Given the description of an element on the screen output the (x, y) to click on. 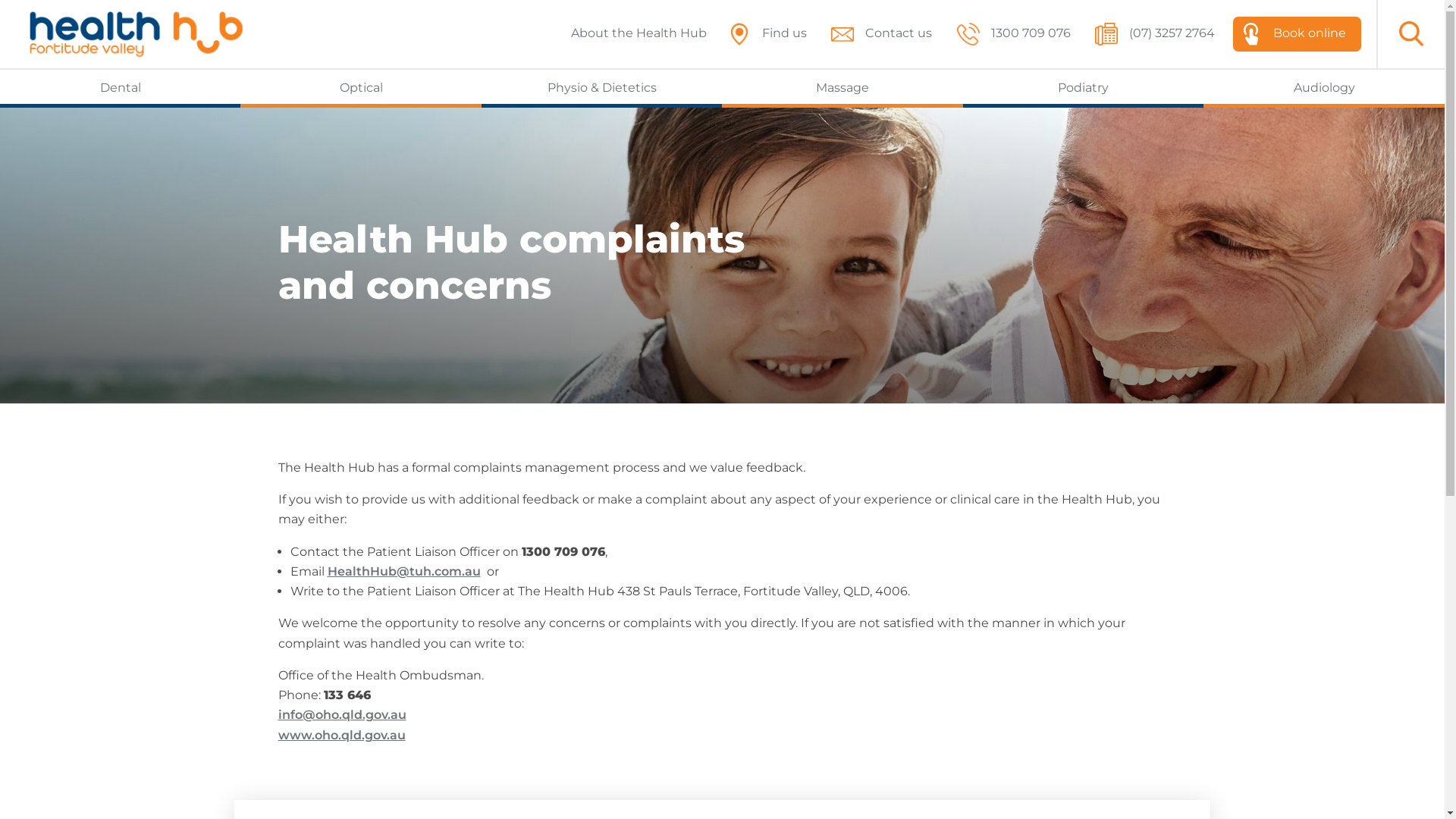
Find us Element type: text (771, 33)
Book online Element type: text (1297, 33)
Optical Element type: text (360, 86)
Audiology Element type: text (1323, 86)
Physio & Dietetics Element type: text (601, 86)
HealthHub@tuh.com.au Element type: text (403, 571)
Dental Element type: text (120, 86)
Massage Element type: text (841, 86)
(07) 3257 2764 Element type: text (1159, 33)
Contact us Element type: text (886, 33)
Podiatry Element type: text (1083, 86)
www.oho.qld.gov.au Element type: text (340, 735)
About the Health Hub Element type: text (638, 33)
1300 709 076 Element type: text (1017, 33)
info@oho.qld.gov.au Element type: text (341, 714)
